Given the description of an element on the screen output the (x, y) to click on. 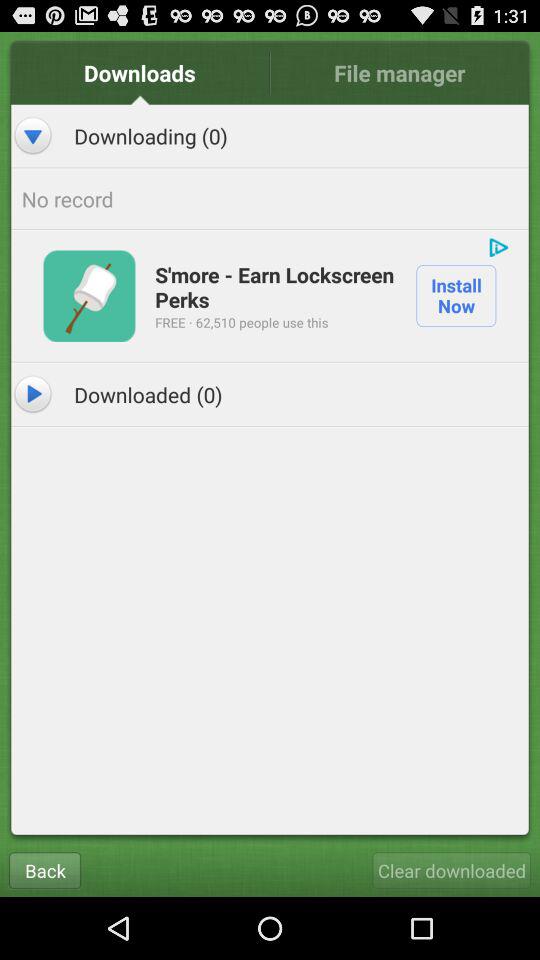
open item to the left of s more earn icon (89, 295)
